Given the description of an element on the screen output the (x, y) to click on. 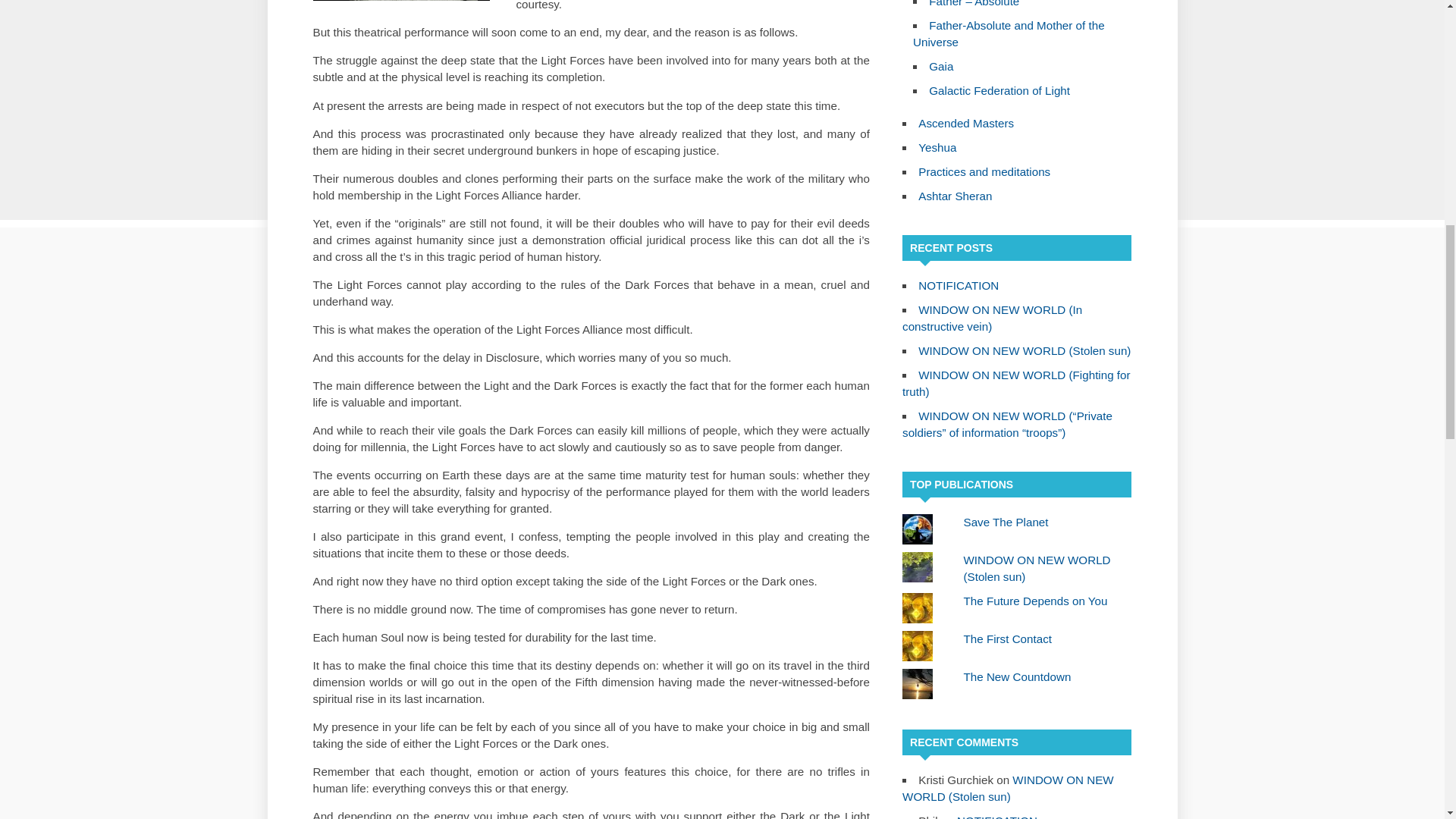
Ashtar Sheran (954, 195)
Father-Absolute and Mother of the Universe (1008, 33)
The Future Depends on You (1035, 600)
Gaia (940, 65)
Galactic Federation of Light (999, 90)
Ascended Masters (965, 123)
Save The Planet (1005, 521)
Yeshua (937, 146)
Practices and meditations (983, 171)
